Given the description of an element on the screen output the (x, y) to click on. 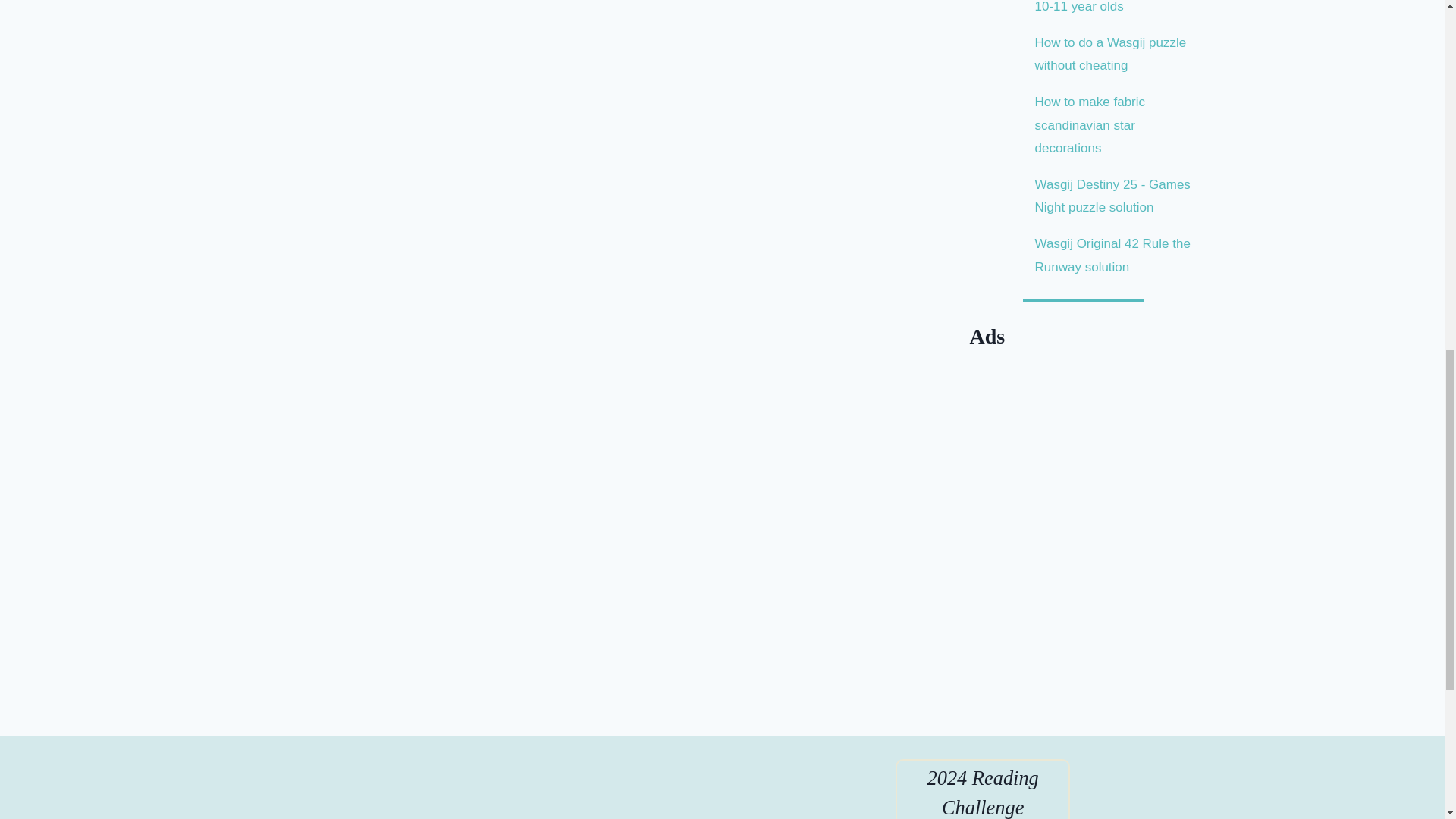
How to make fabric scandinavian star decorations (1090, 125)
Wasgij Destiny 25 - Games Night puzzle solution (1113, 196)
Party goody bag ideas for 10-11 year olds (1108, 7)
How to do a Wasgij puzzle without cheating (1110, 54)
